Given the description of an element on the screen output the (x, y) to click on. 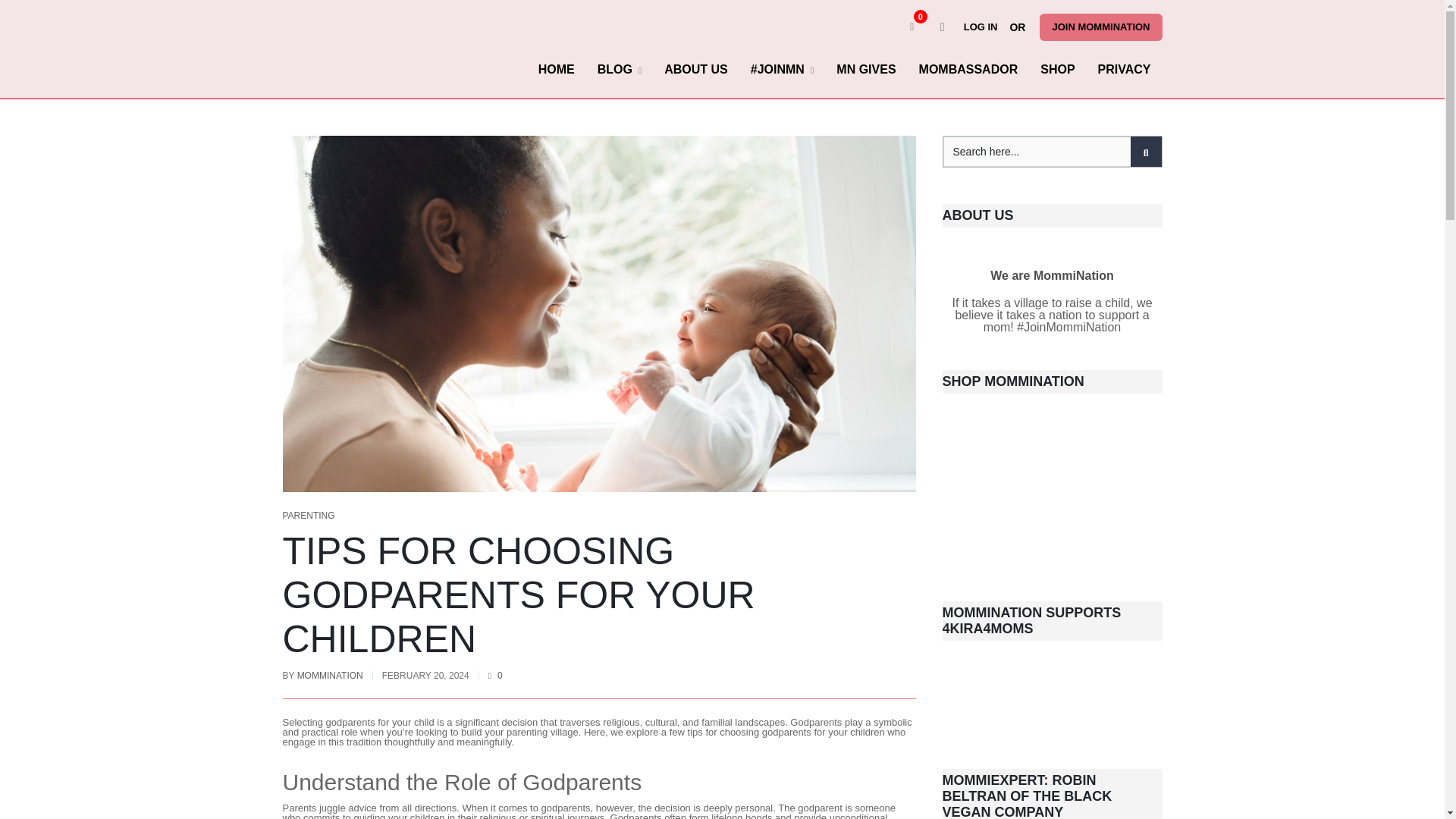
BLOG (619, 68)
Search here... (1052, 151)
LOG IN (984, 26)
HOME (556, 68)
Posts by MommiNation (329, 675)
View all posts in Parenting (308, 515)
ABOUT US (695, 68)
MN GIVES (866, 68)
Search here... (1052, 151)
MommiNation (318, 48)
JOIN MOMMINATION (1100, 26)
PRIVACY (1123, 68)
SHOP (1057, 68)
MOMBASSADOR (968, 68)
0 (911, 26)
